Given the description of an element on the screen output the (x, y) to click on. 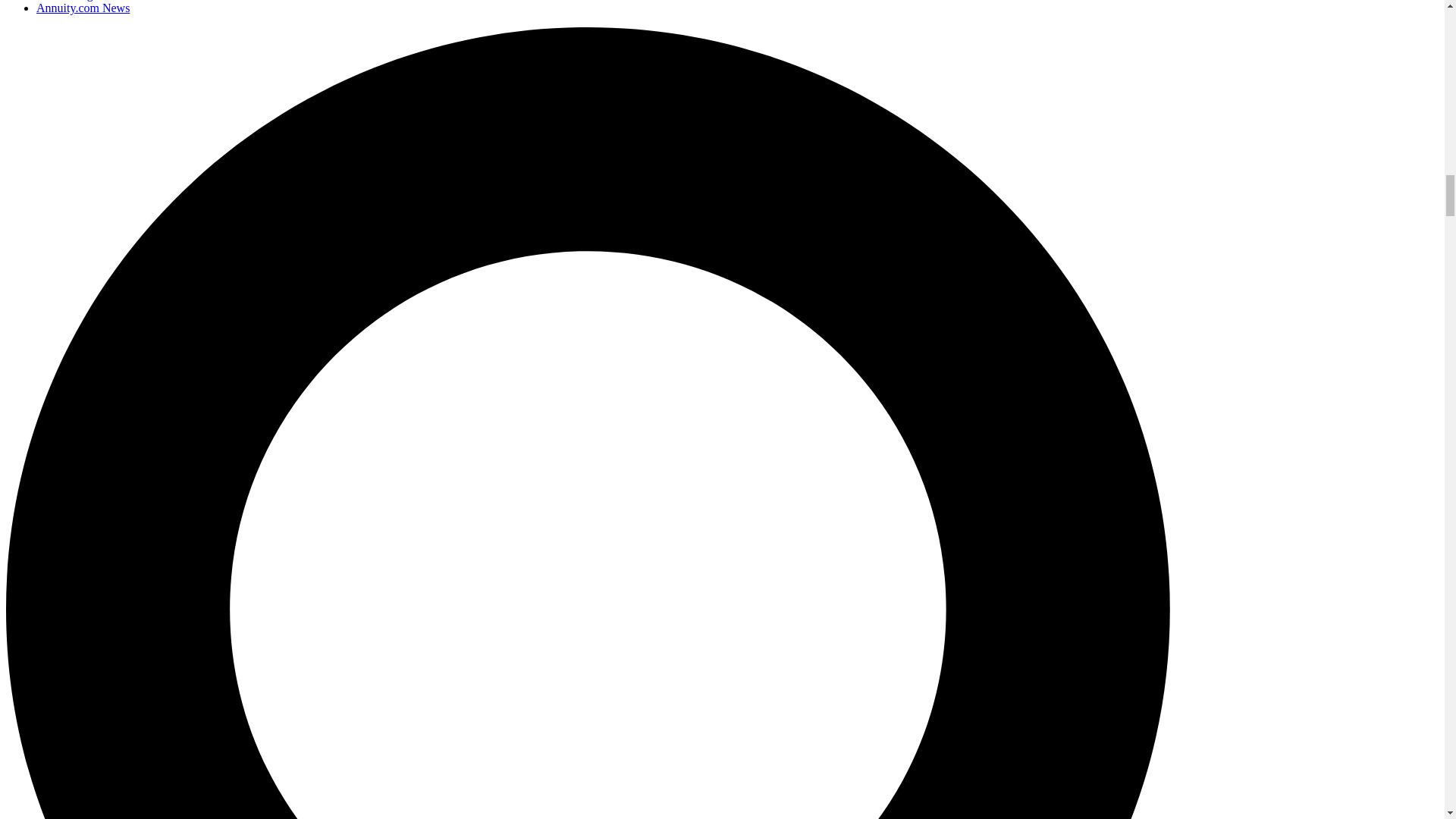
Annuity.com News (82, 7)
Find An Agent (71, 0)
